Given the description of an element on the screen output the (x, y) to click on. 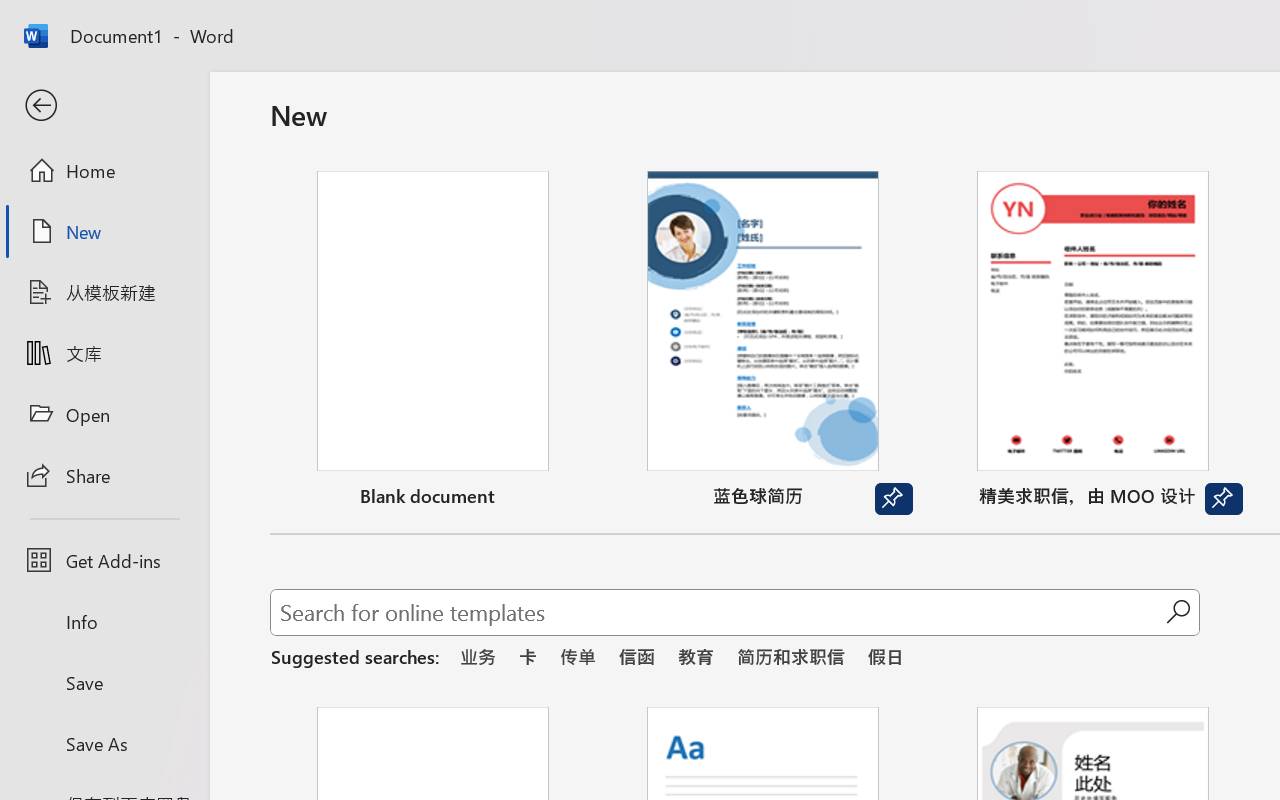
Get Add-ins (104, 560)
Blank document (433, 343)
Save As (104, 743)
